Given the description of an element on the screen output the (x, y) to click on. 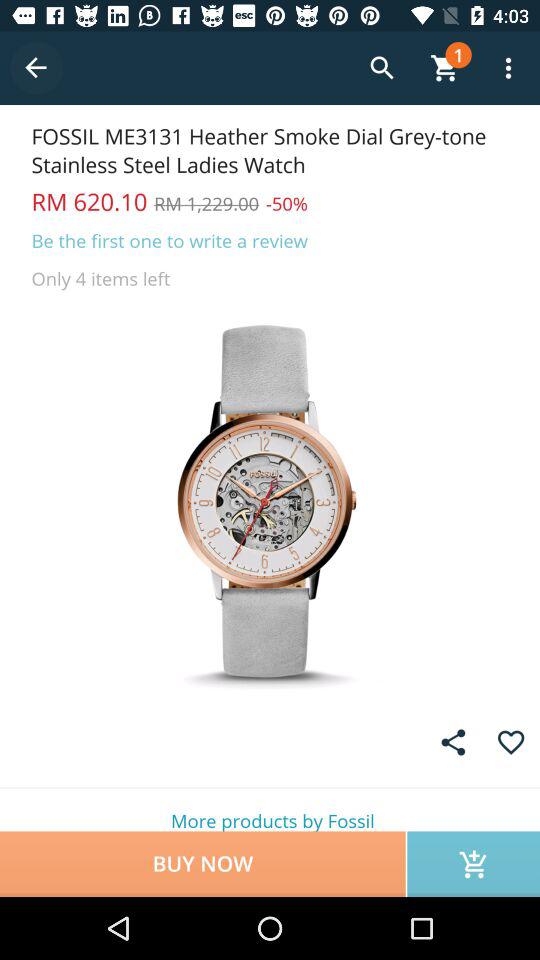
like button (510, 742)
